Given the description of an element on the screen output the (x, y) to click on. 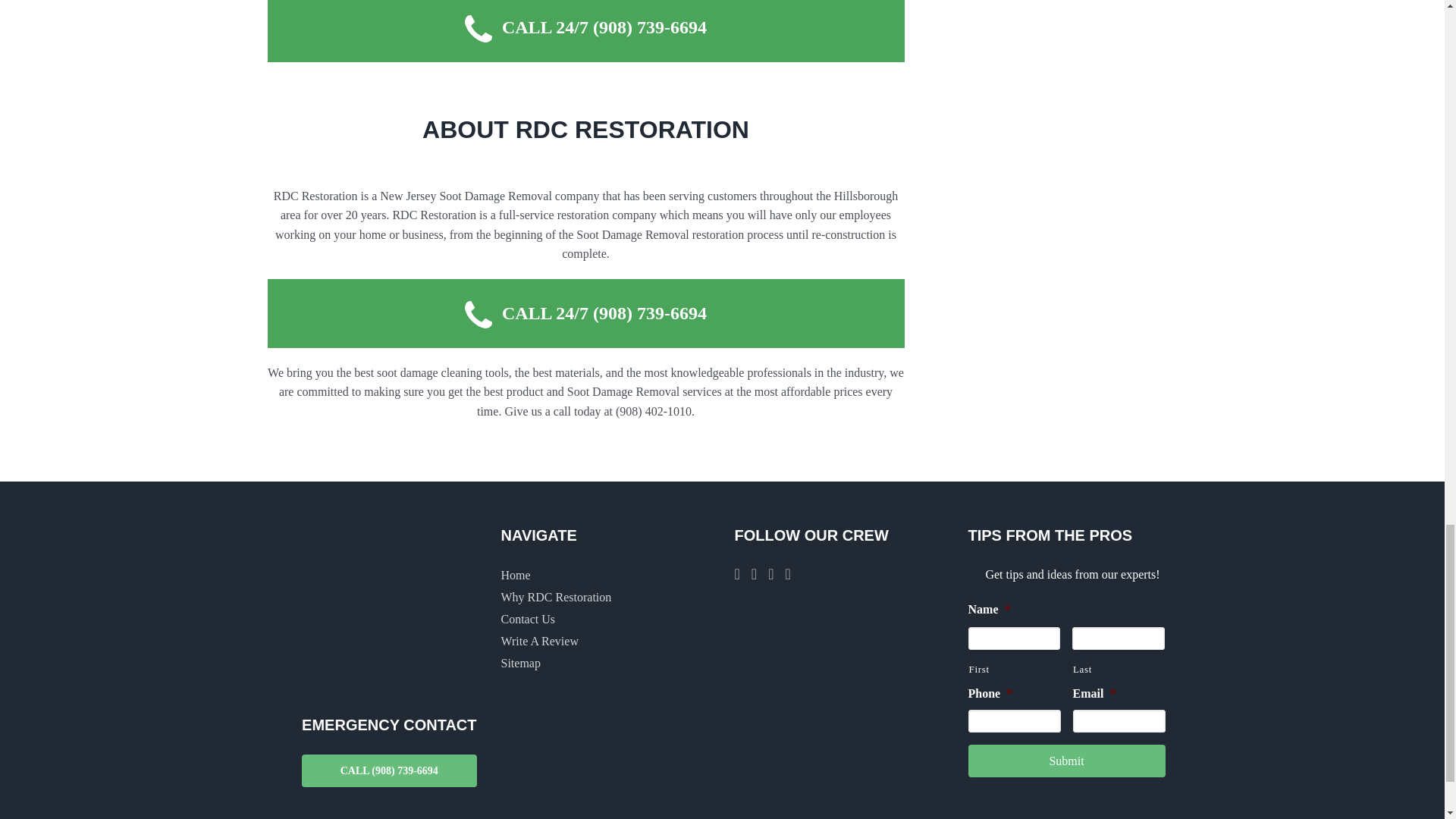
Click for the BBB Business Review of RDC Restoration LLC. (897, 640)
Submit (1066, 760)
